Given the description of an element on the screen output the (x, y) to click on. 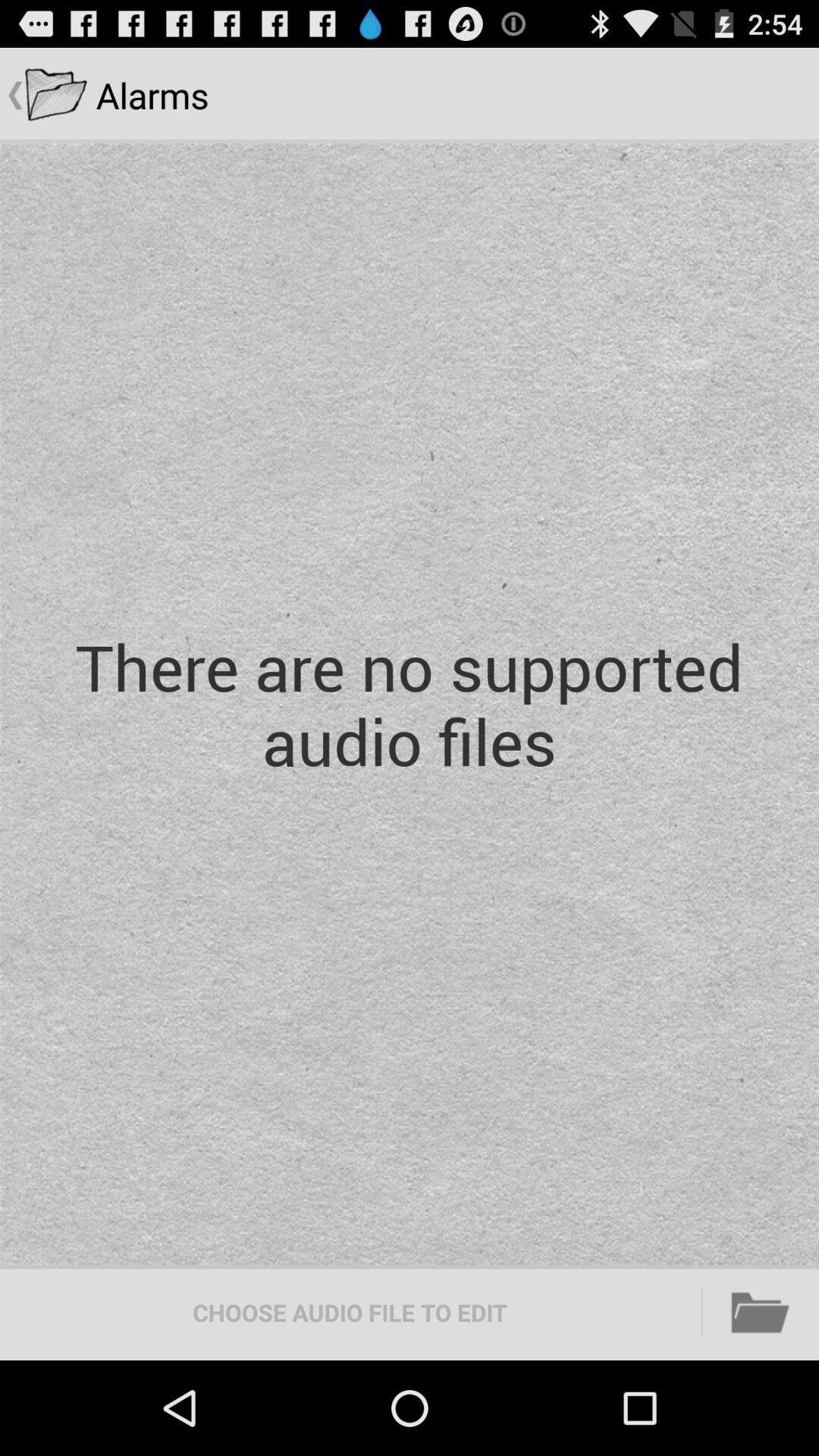
tap the icon below there are no icon (349, 1312)
